Given the description of an element on the screen output the (x, y) to click on. 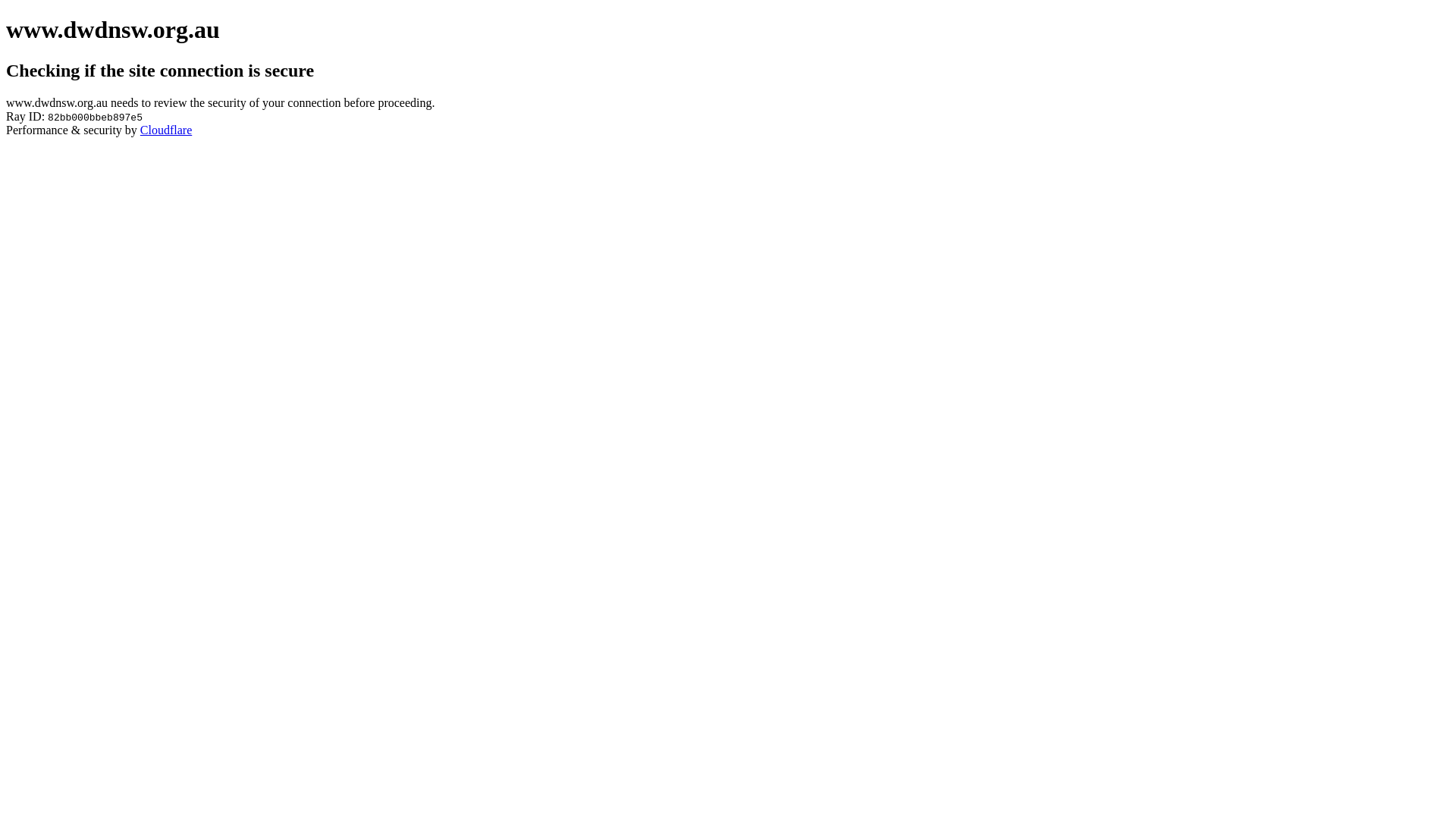
Cloudflare Element type: text (165, 129)
